Given the description of an element on the screen output the (x, y) to click on. 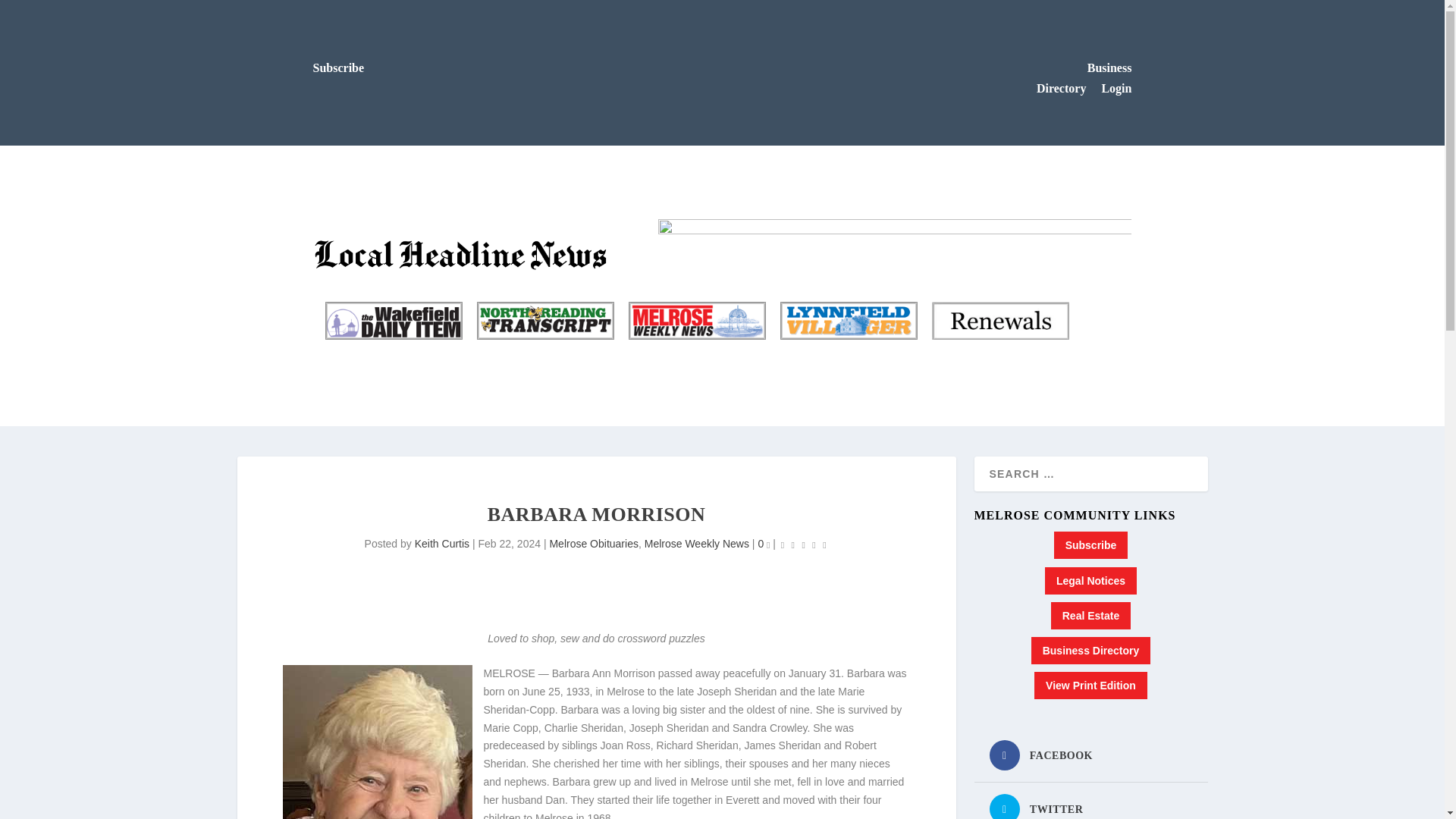
Rating: 0.00 (803, 544)
local-headline-news-logo (462, 253)
Business Directory (1083, 78)
Renewal (1000, 320)
Login (1115, 88)
Melrose Weekly News (696, 320)
Lynnfield Villager (847, 320)
Lynnfield (847, 320)
Wakefield Daily Item (393, 320)
Melrose (696, 320)
Posts by Keith Curtis (441, 543)
Melrose Weekly News (697, 543)
Wakefield (393, 320)
Keith Curtis (441, 543)
0 (763, 543)
